Given the description of an element on the screen output the (x, y) to click on. 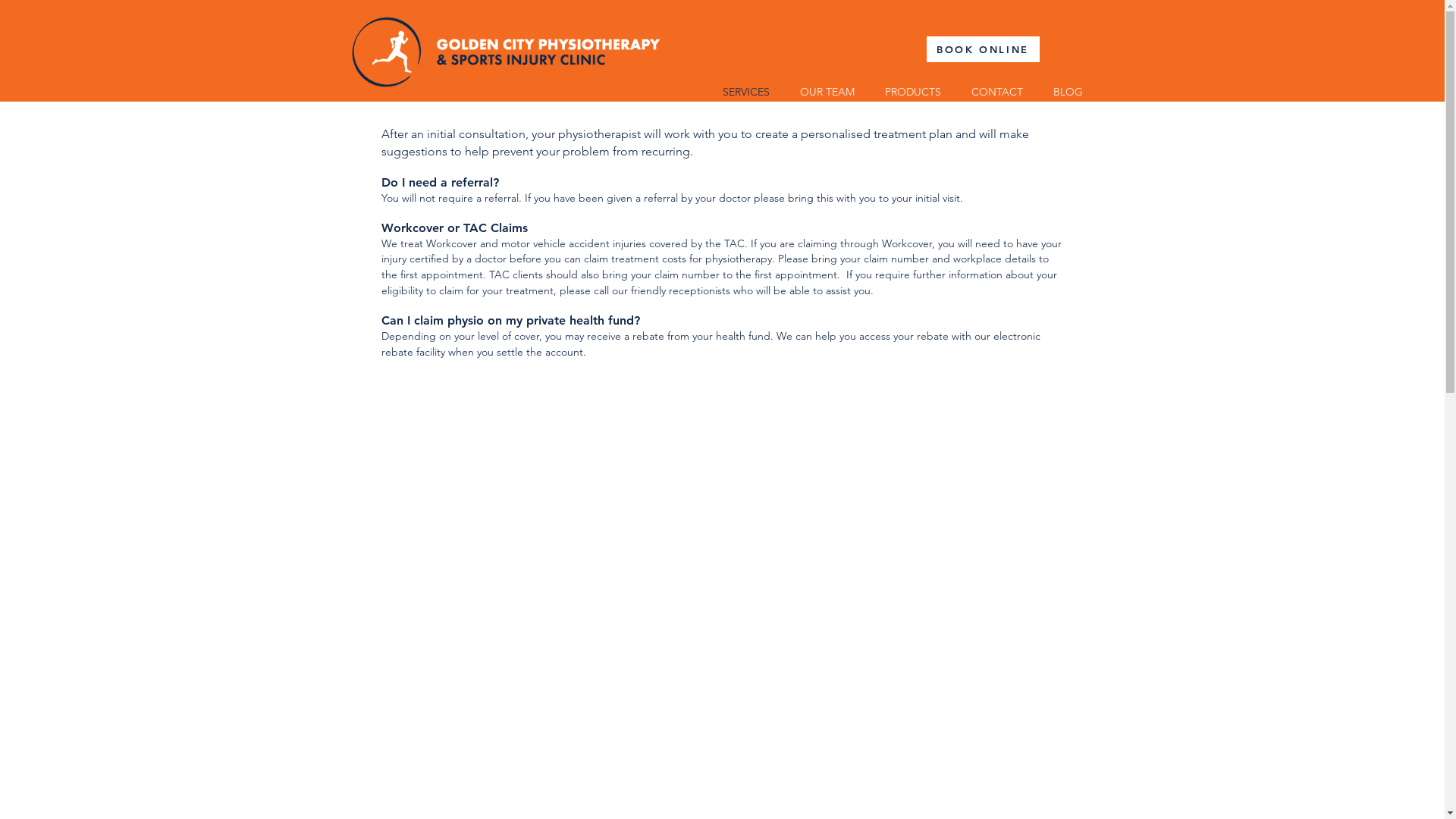
PRODUCTS Element type: text (912, 90)
SERVICES Element type: text (745, 90)
OUR TEAM Element type: text (826, 90)
BLOG Element type: text (1067, 90)
CONTACT Element type: text (996, 90)
BOOK ONLINE Element type: text (982, 49)
